Given the description of an element on the screen output the (x, y) to click on. 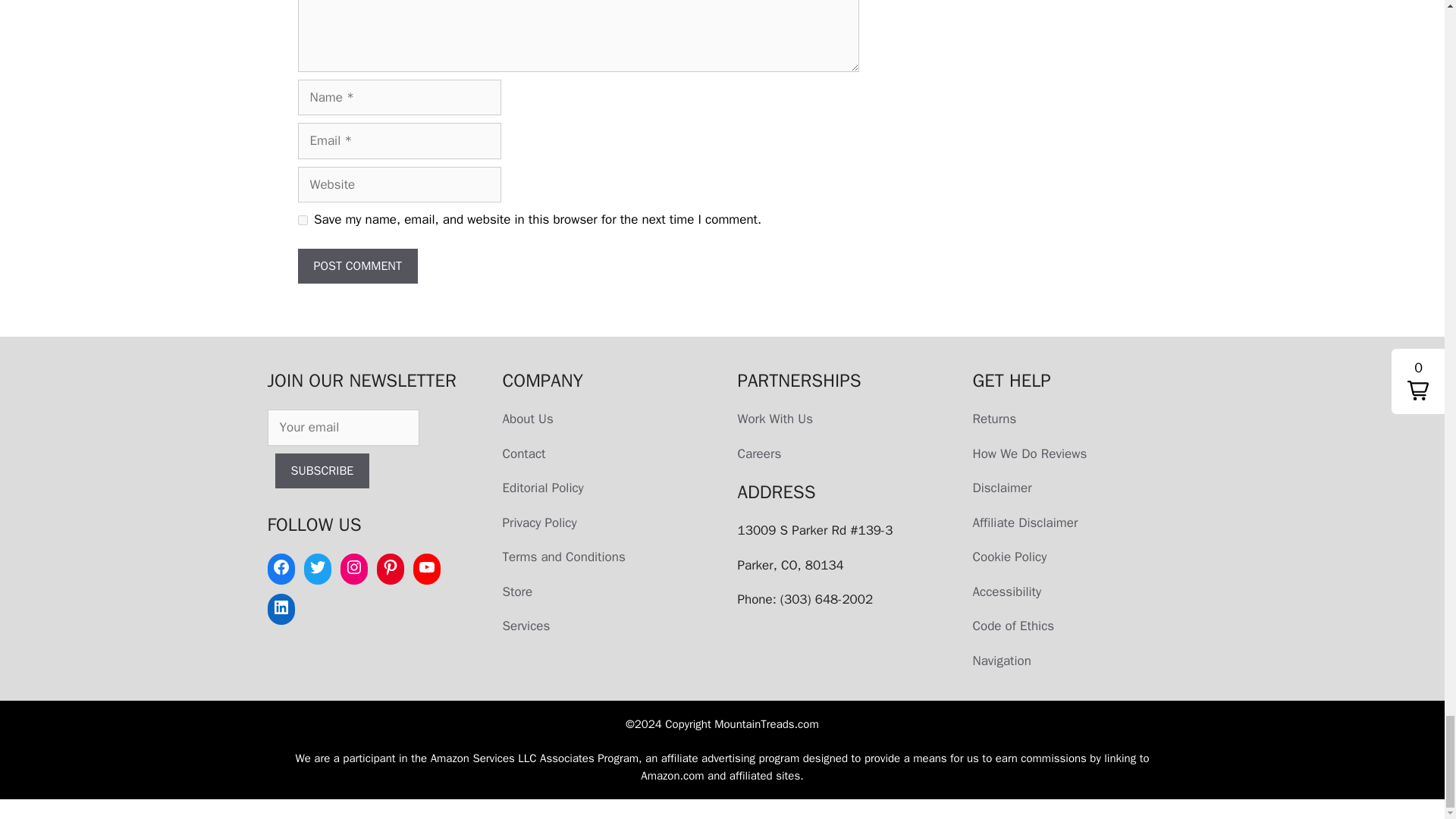
Post Comment (356, 265)
yes (302, 220)
